Given the description of an element on the screen output the (x, y) to click on. 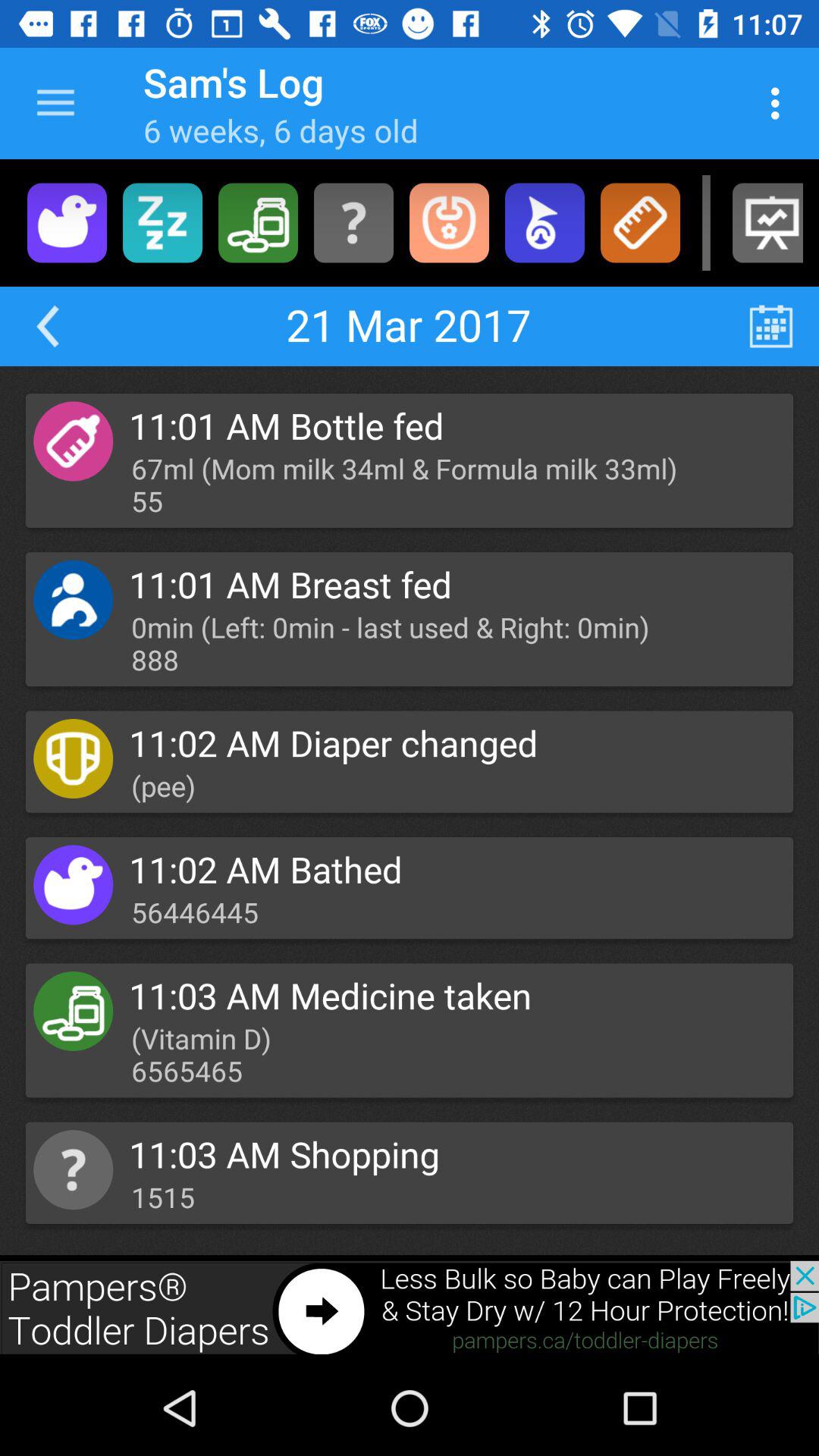
open calender (771, 326)
